Given the description of an element on the screen output the (x, y) to click on. 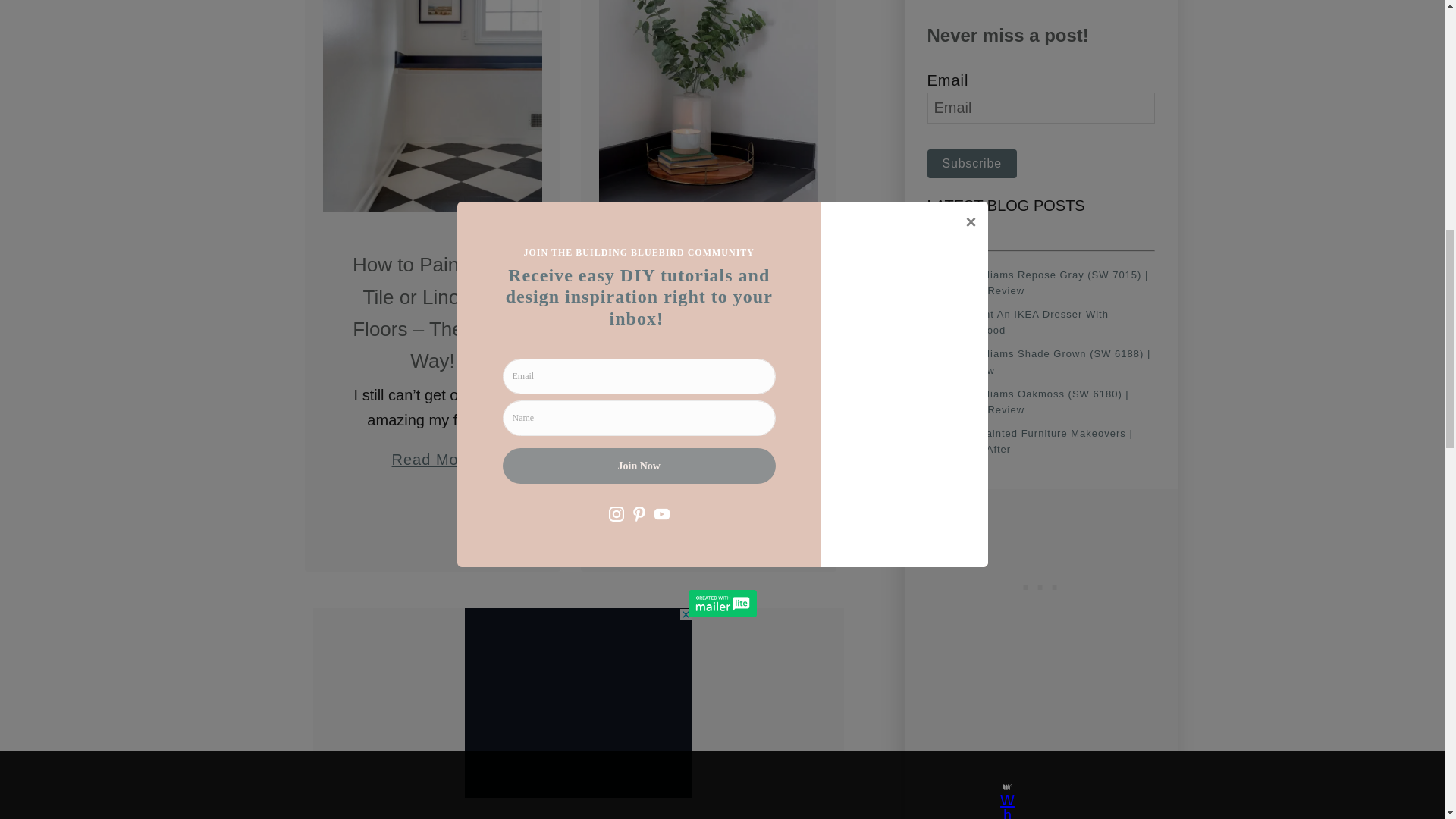
3rd party ad content (577, 702)
3rd party ad content (1040, 583)
